Given the description of an element on the screen output the (x, y) to click on. 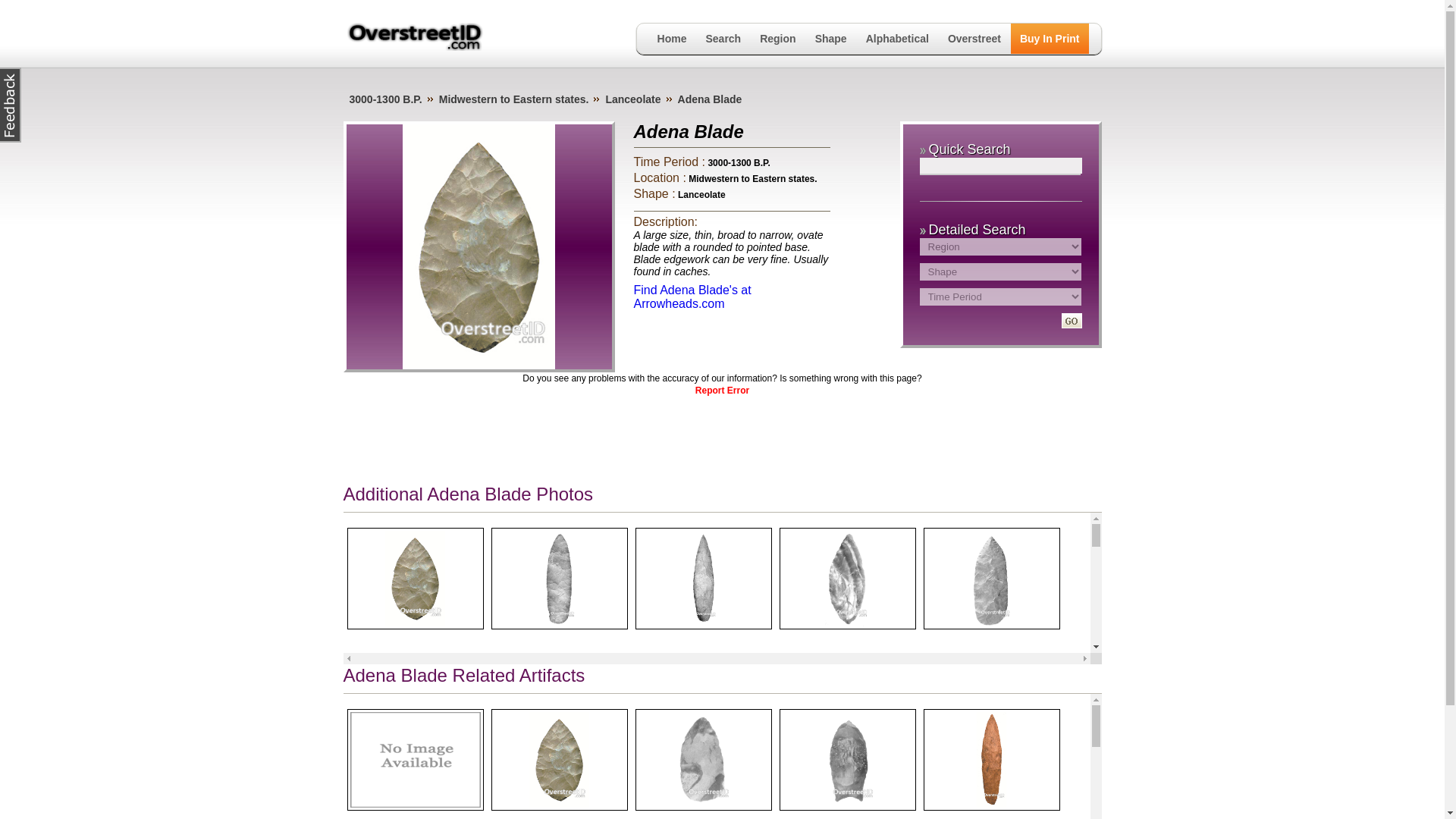
Buy In Print (1049, 38)
3000-1300 B.P. (385, 98)
Midwestern to Eastern states. (514, 98)
Adena Blade (710, 98)
Search (722, 38)
Overstreet (974, 38)
Report Error (722, 389)
Home (671, 38)
Lanceolate (633, 98)
Lanceolate (701, 194)
Midwestern to Eastern states. (752, 178)
Go (1071, 320)
Find Adena Blade's at Arrowheads.com (692, 296)
Go (1071, 320)
Advertisement (721, 436)
